Given the description of an element on the screen output the (x, y) to click on. 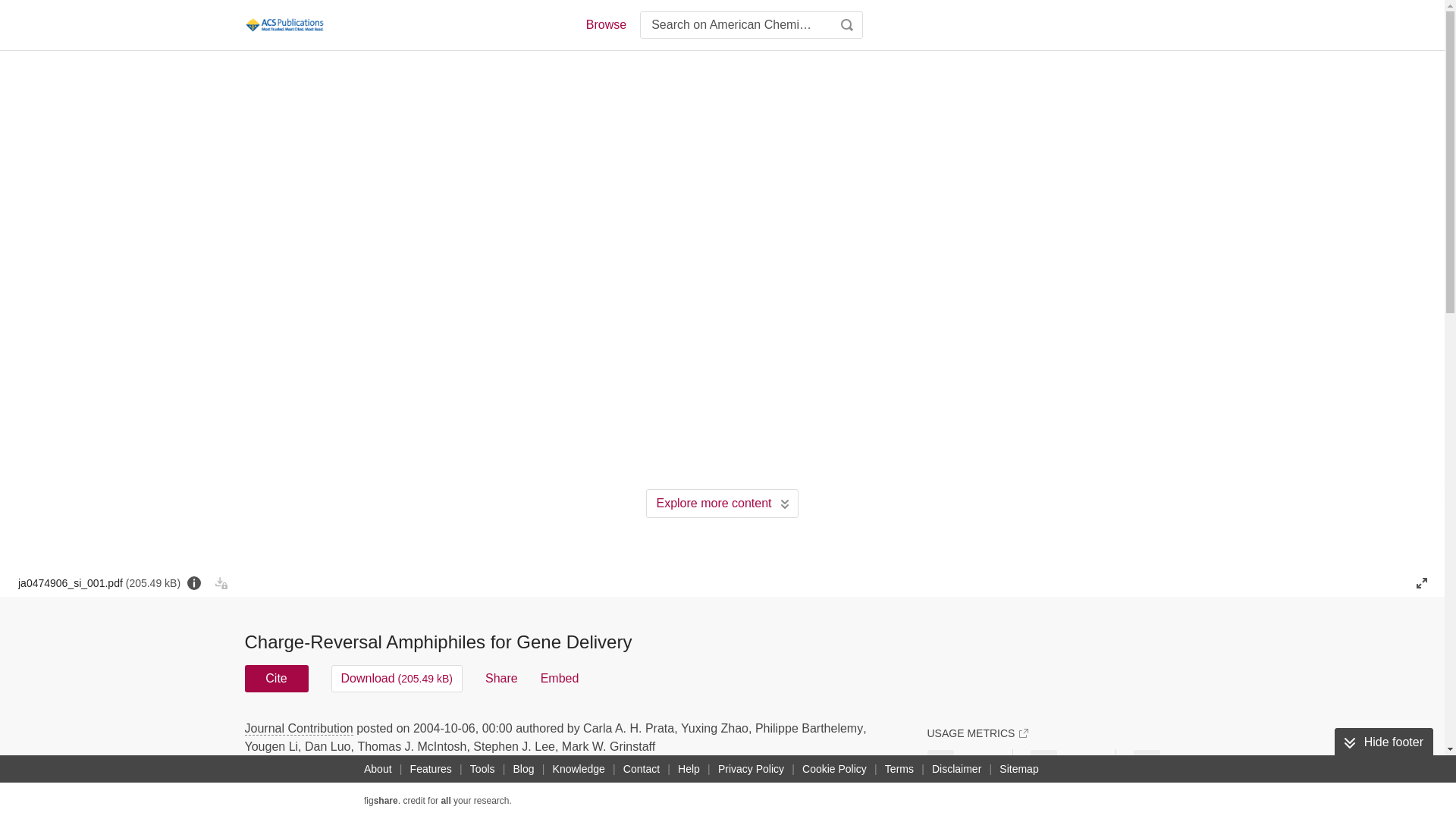
Explore more content (721, 502)
USAGE METRICS (976, 732)
Browse (605, 24)
Share (501, 678)
Cite (275, 678)
Embed (559, 678)
